Given the description of an element on the screen output the (x, y) to click on. 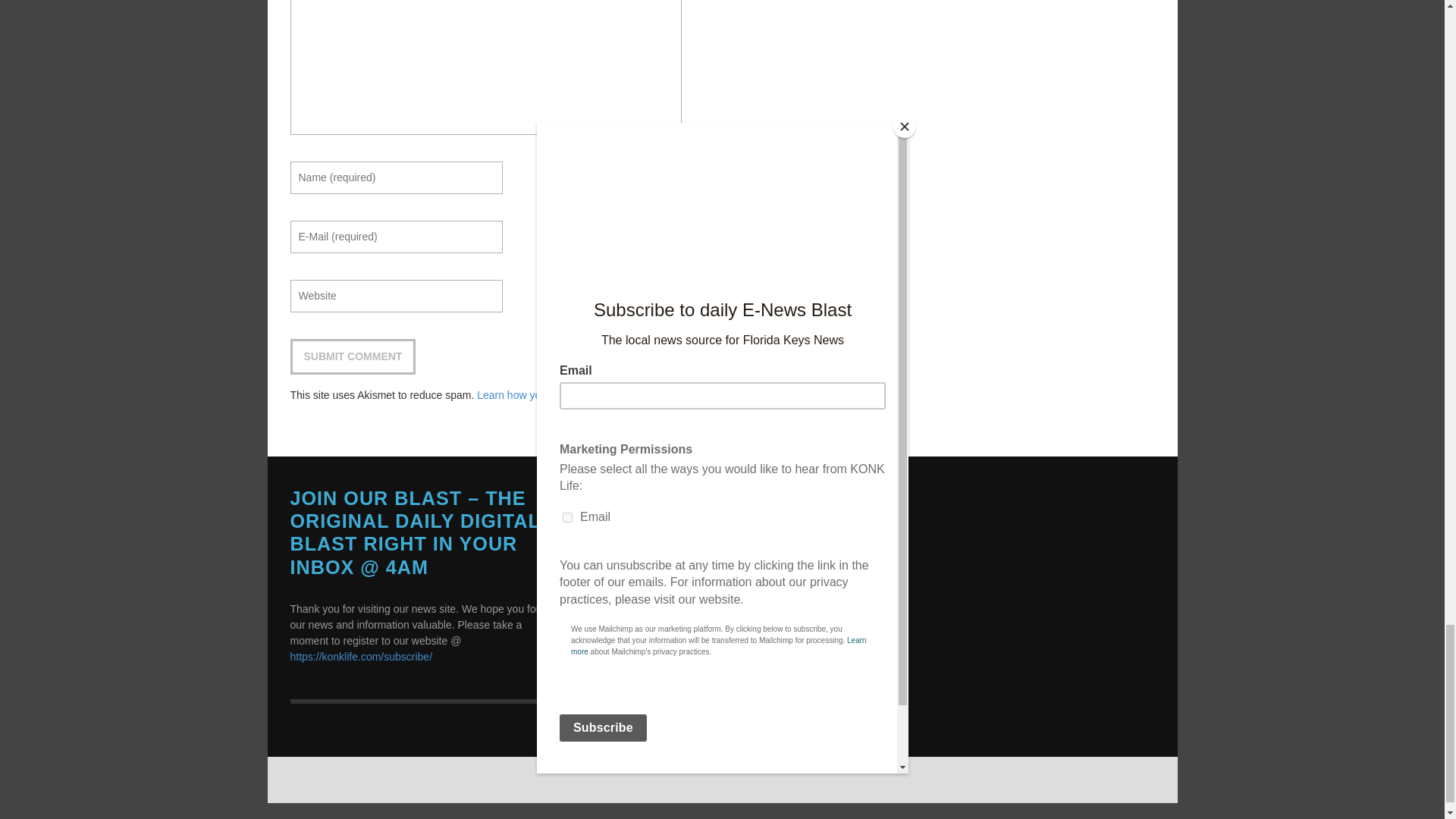
Submit comment (351, 356)
